Given the description of an element on the screen output the (x, y) to click on. 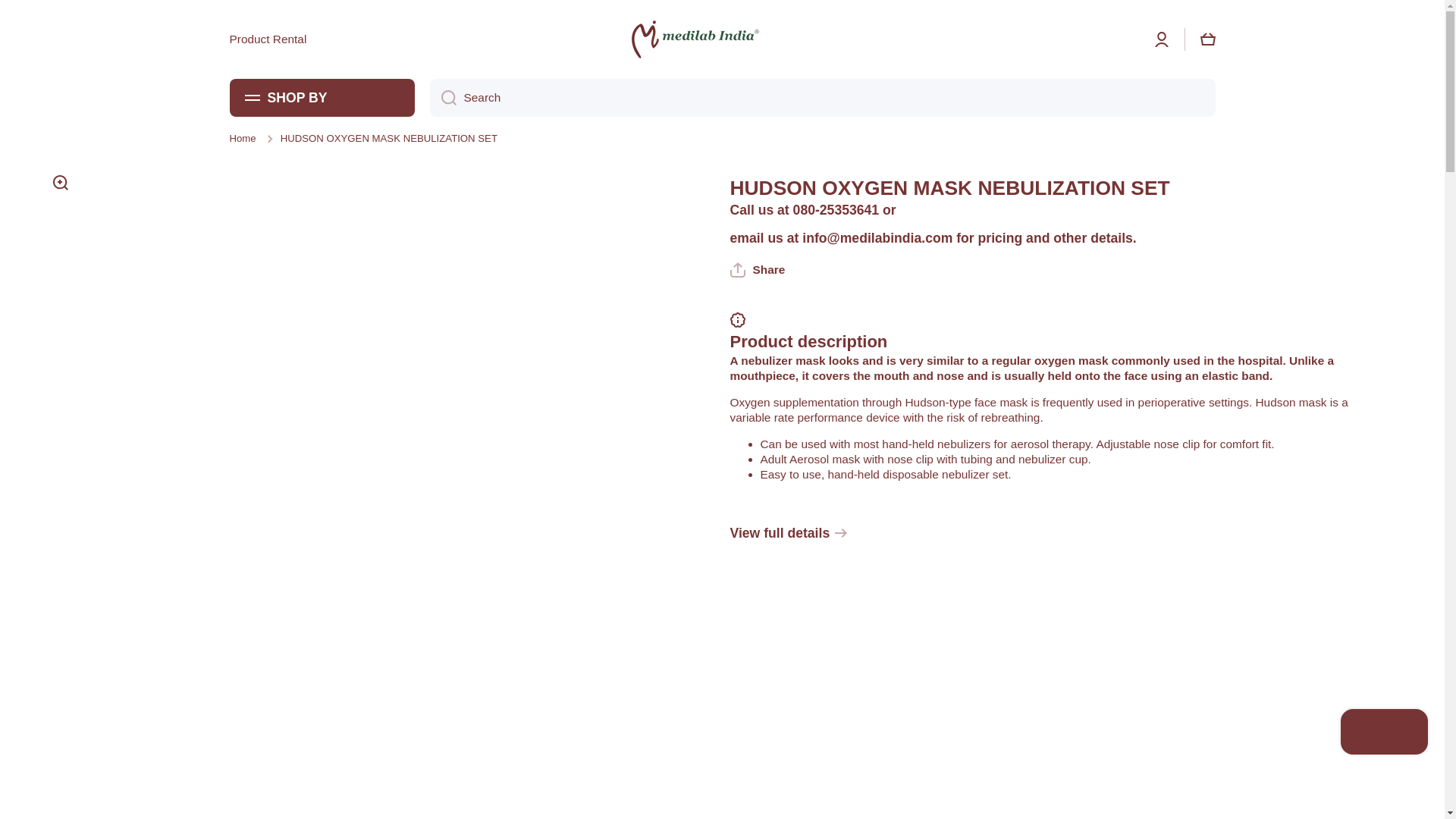
Cart (1206, 38)
Log in (1161, 38)
Shopify online store chat (1384, 733)
Home (242, 137)
Product Rental (266, 38)
